Given the description of an element on the screen output the (x, y) to click on. 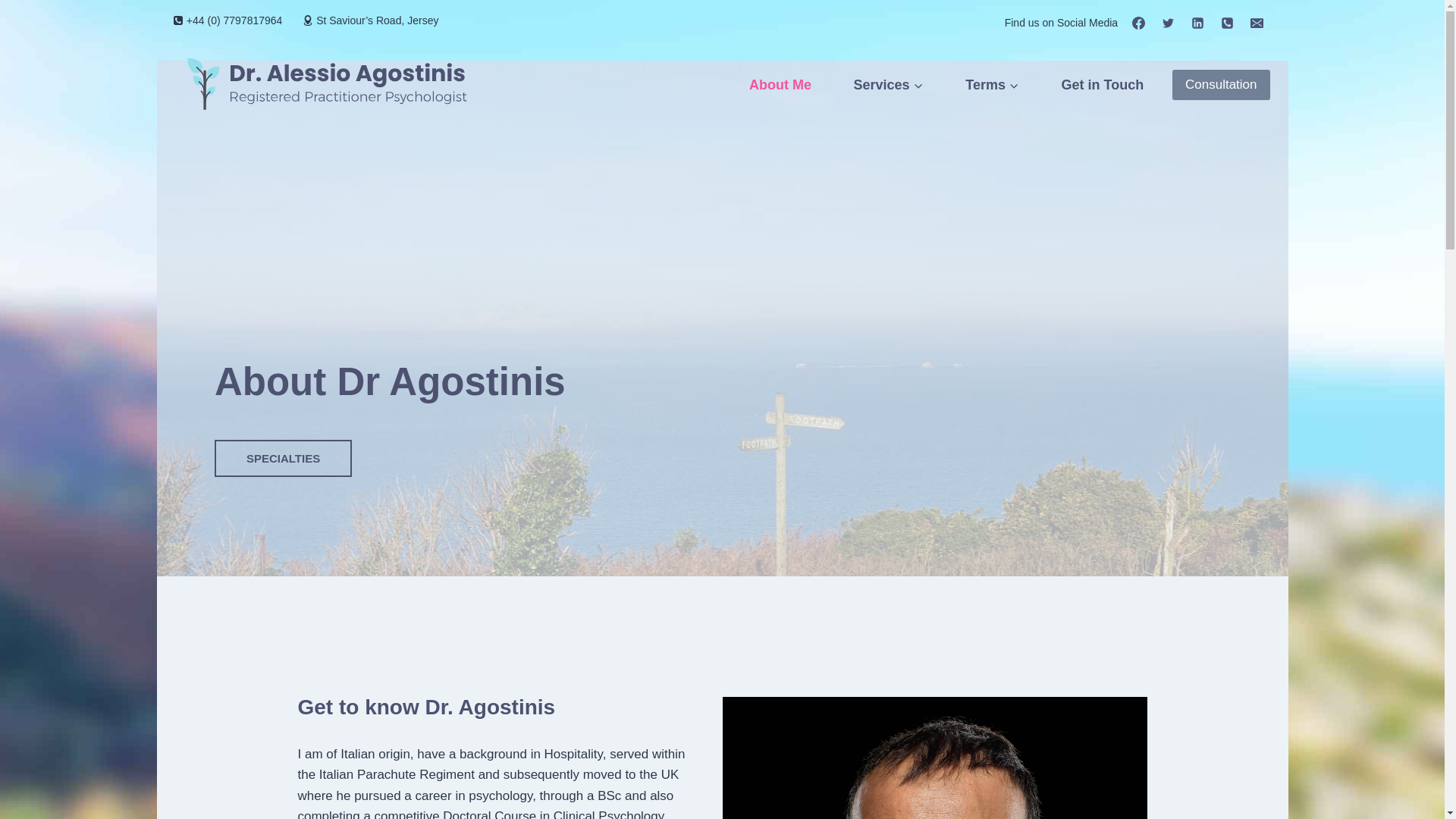
SPECIALTIES (283, 457)
Get in Touch (1102, 85)
Consultation (1220, 84)
Terms (991, 85)
About Me (780, 85)
Services (888, 85)
